Given the description of an element on the screen output the (x, y) to click on. 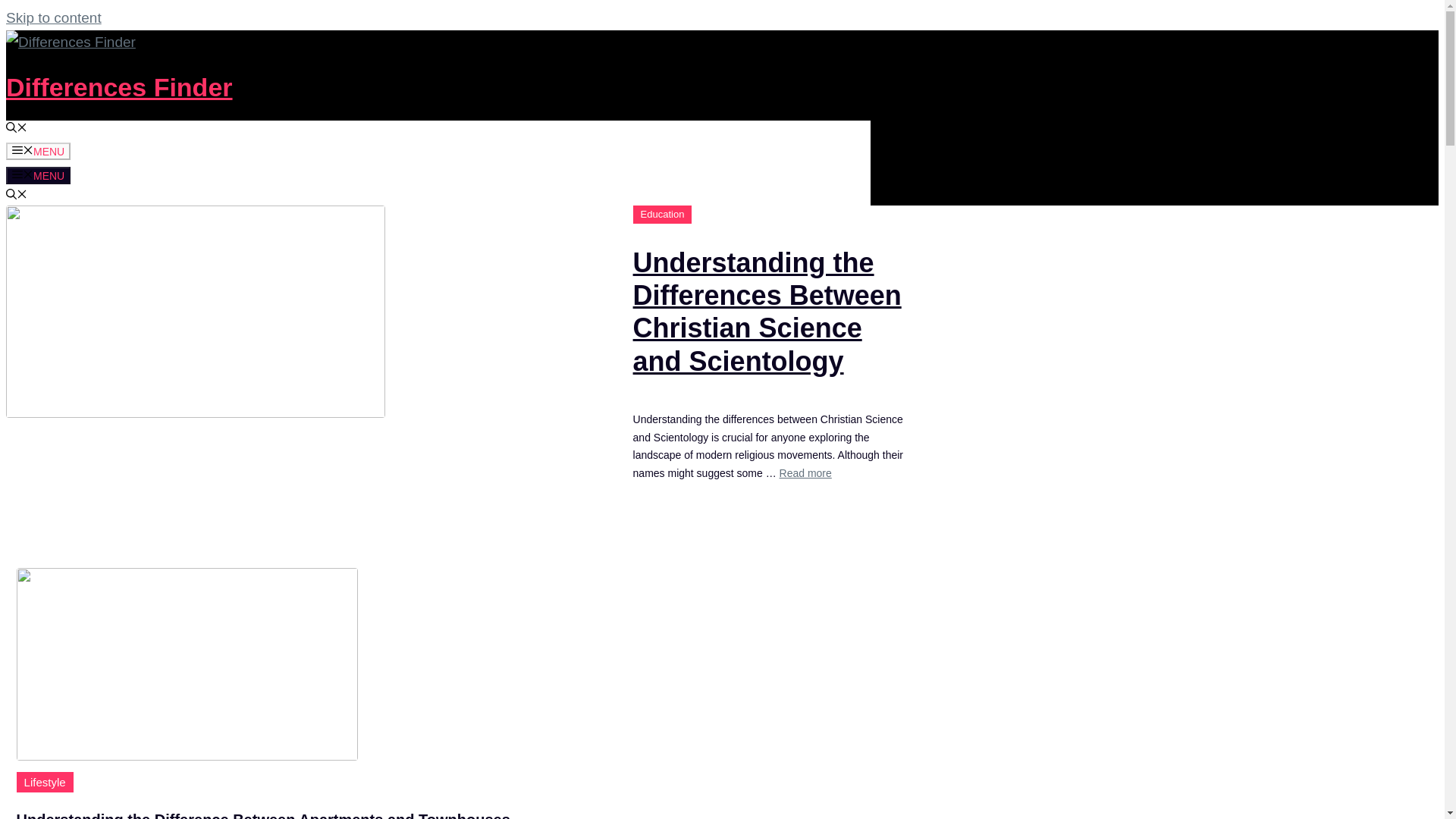
Skip to content (53, 17)
Read more (804, 472)
Lifestyle (45, 782)
Skip to content (53, 17)
Education (663, 214)
Differences Finder (118, 86)
MENU (37, 175)
MENU (37, 150)
